Given the description of an element on the screen output the (x, y) to click on. 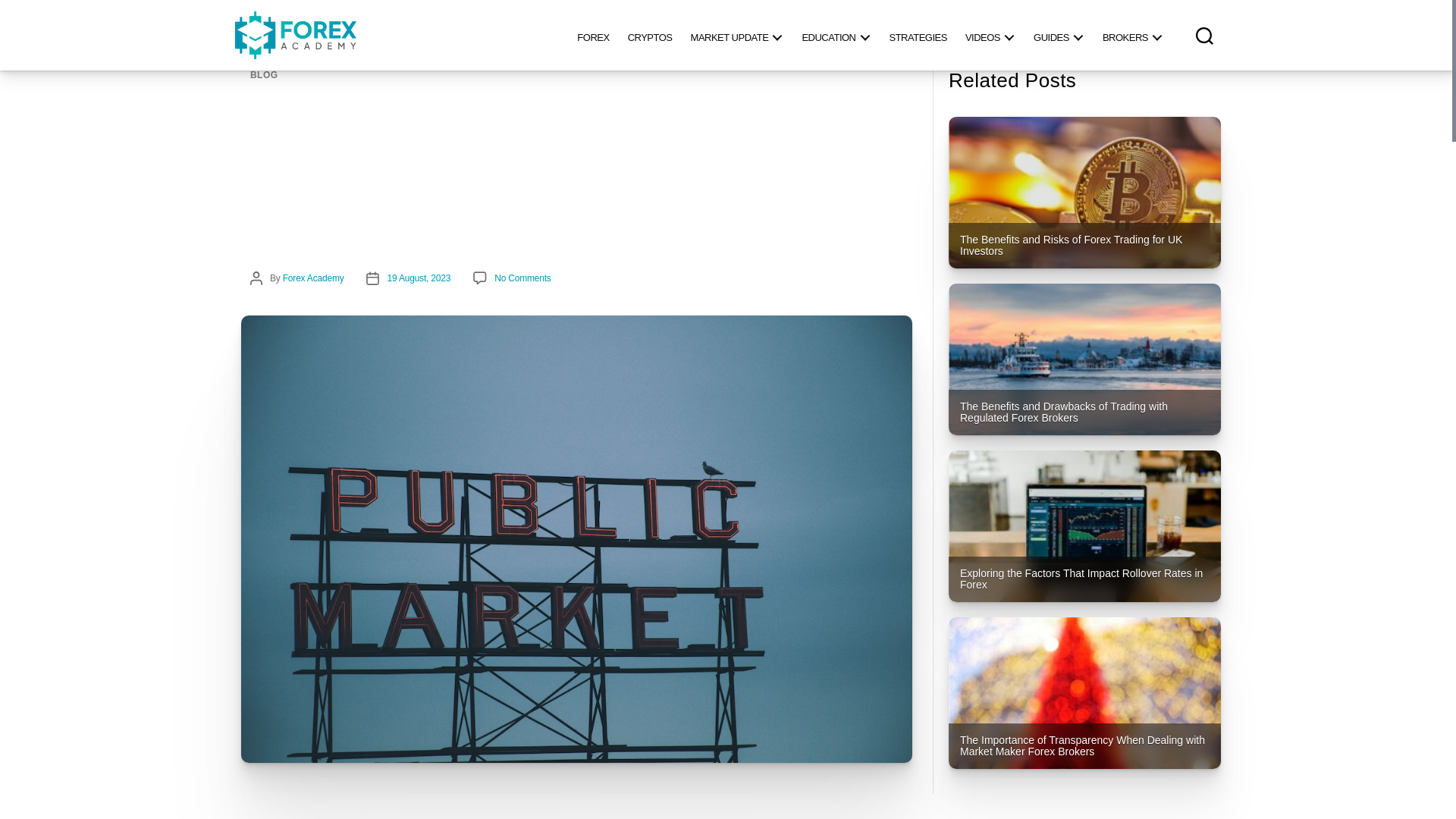
STRATEGIES (917, 35)
VIDEOS (990, 35)
EDUCATION (835, 35)
MARKET UPDATE (737, 35)
The Benefits and Risks of Forex Trading for UK Investors (1085, 192)
CRYPTOS (649, 35)
GUIDES (1059, 35)
Exploring the Factors That Impact Rollover Rates in Forex (1085, 525)
BROKERS (1132, 35)
